Given the description of an element on the screen output the (x, y) to click on. 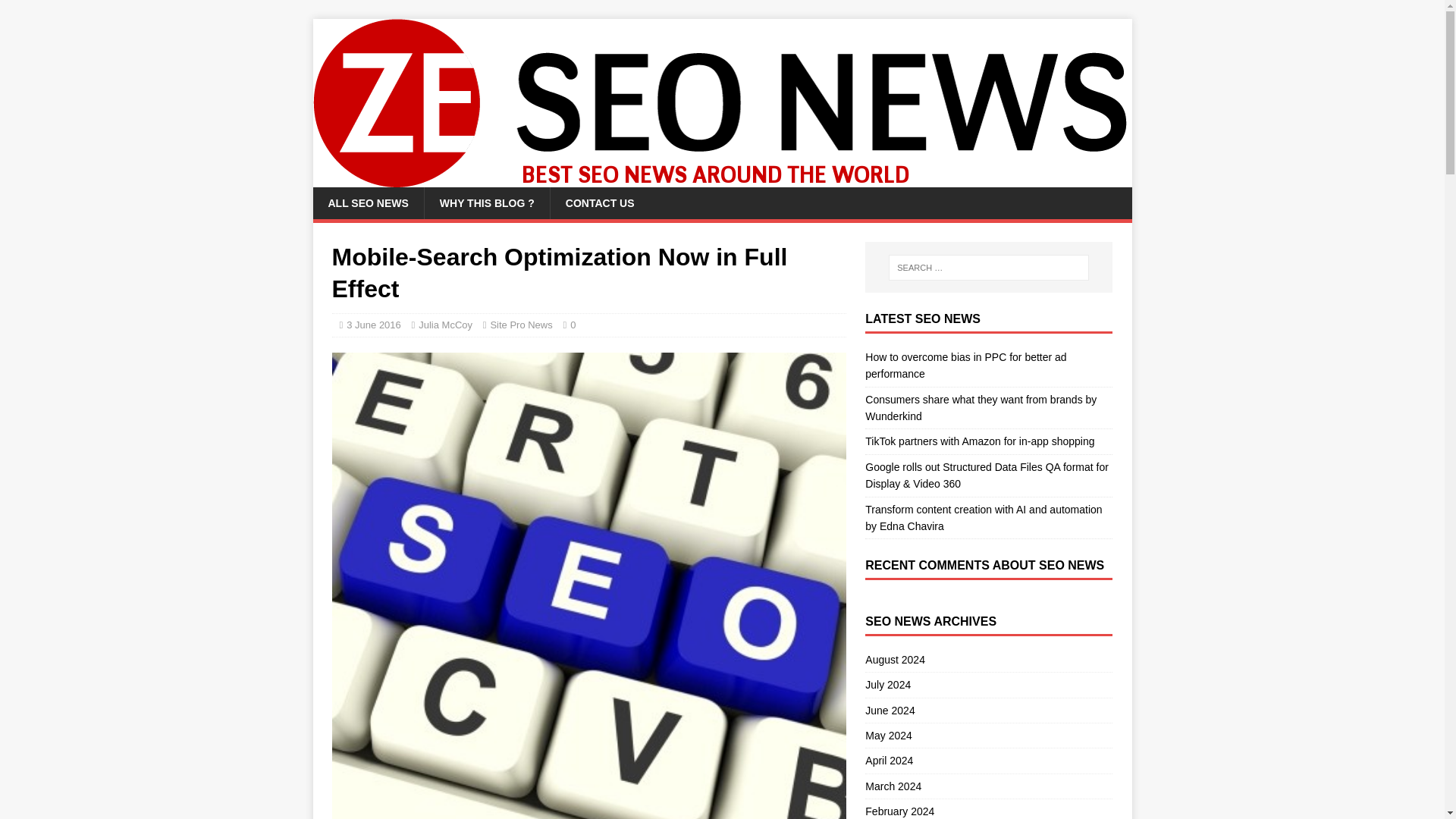
ZE SEO News (722, 178)
June 2024 (988, 710)
Search (56, 11)
April 2024 (988, 760)
TikTok partners with Amazon for in-app shopping (979, 440)
3 June 2016 (373, 324)
ALL SEO NEWS (368, 203)
Julia McCoy (445, 324)
